Given the description of an element on the screen output the (x, y) to click on. 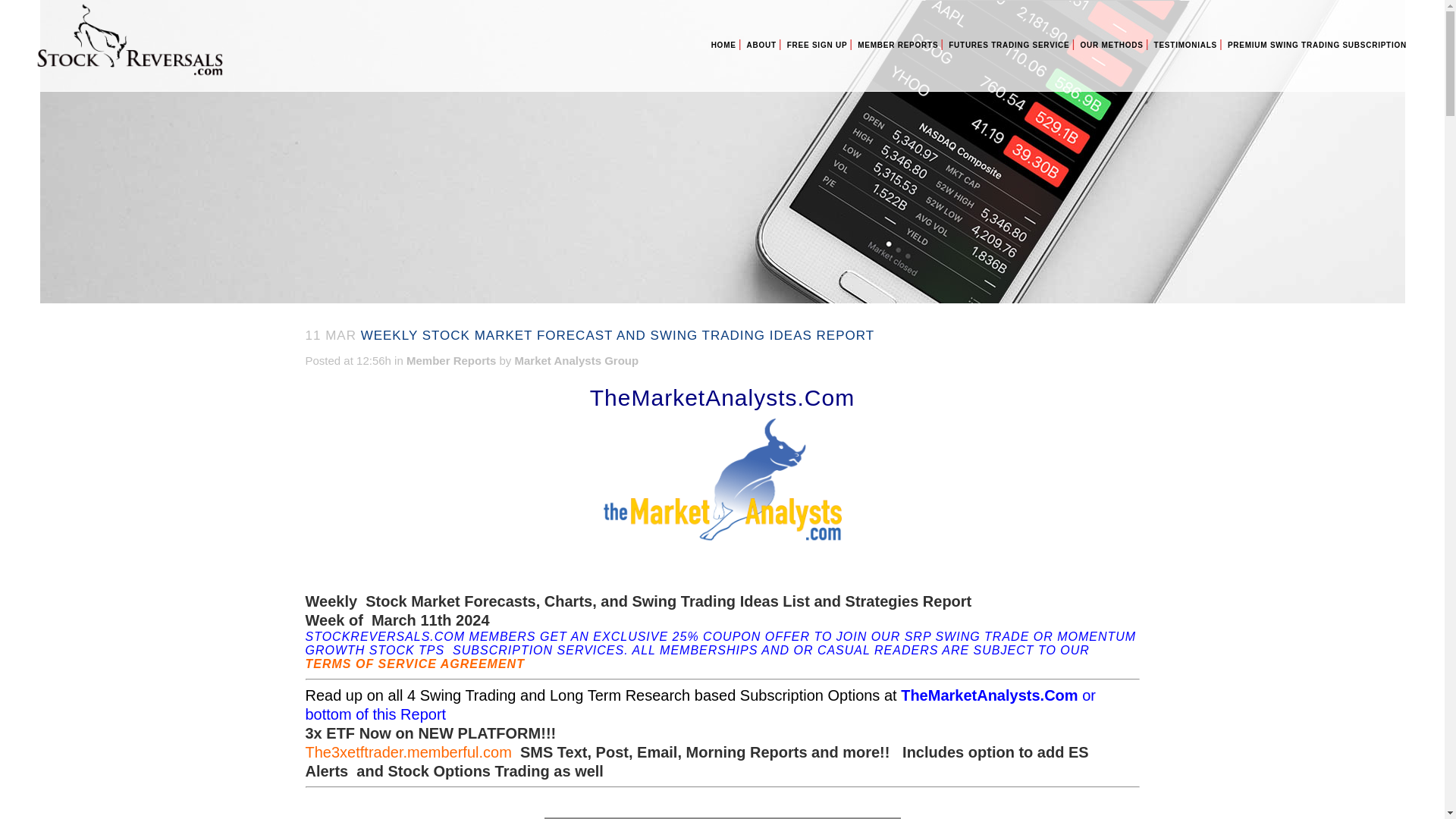
PREMIUM SWING TRADING SUBSCRIPTION (1317, 45)
ABOUT (761, 45)
FUTURES TRADING SERVICE (1008, 45)
MEMBER REPORTS (897, 45)
Member Reports (451, 359)
HOME (723, 45)
SRP Membership (1317, 45)
TERMS OF SERVICE AGREEMENT (414, 663)
OUR METHODS (1111, 45)
FREE SIGN UP (817, 45)
TESTIMONIALS (1185, 45)
Market Analysts Group (576, 359)
TheMarketAnalysts.Com (721, 397)
The3xetftrader.memberful.com (407, 751)
TheMarketAnalysts.Com (989, 695)
